Given the description of an element on the screen output the (x, y) to click on. 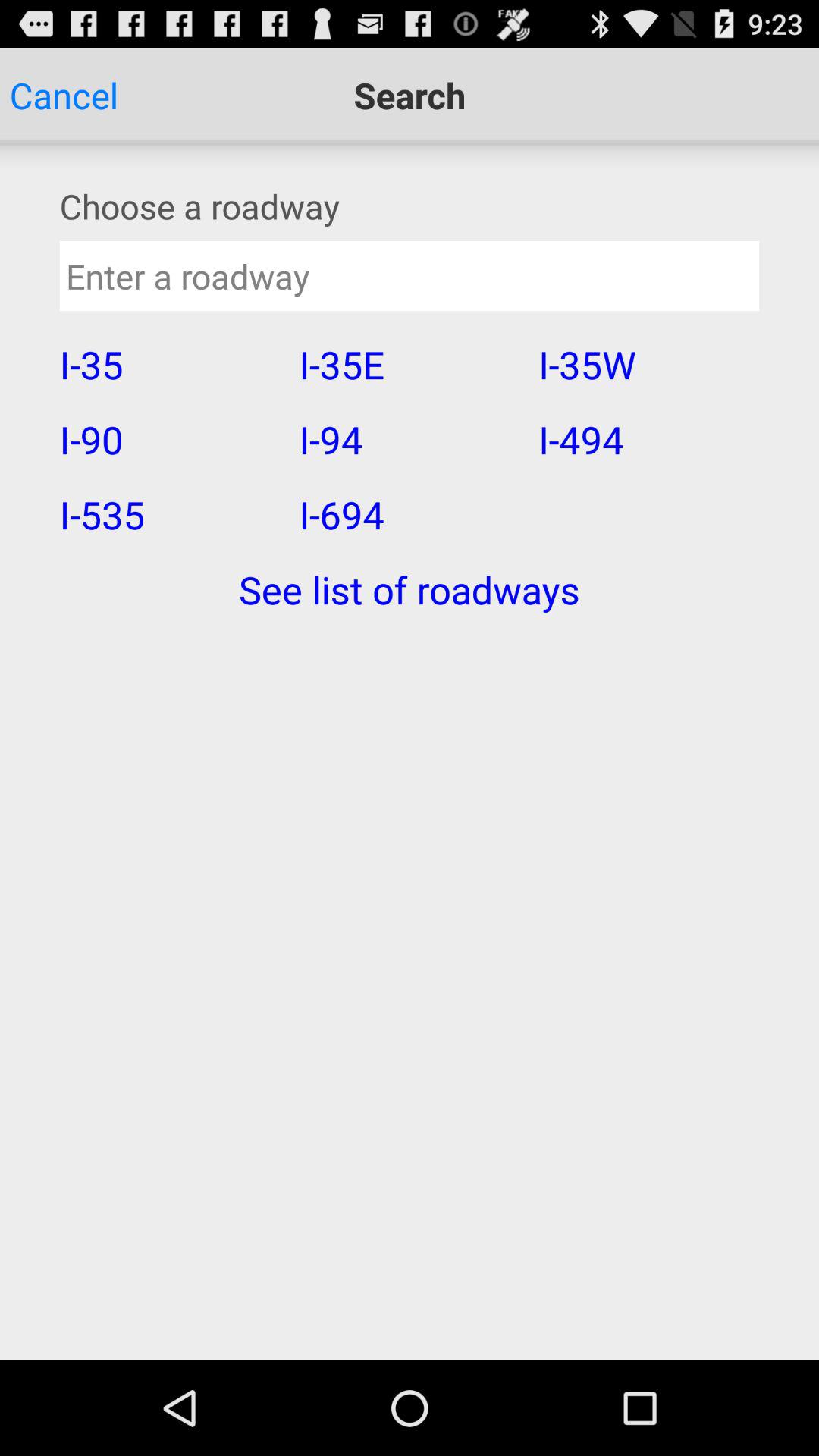
turn on the app above the choose a roadway app (63, 95)
